Given the description of an element on the screen output the (x, y) to click on. 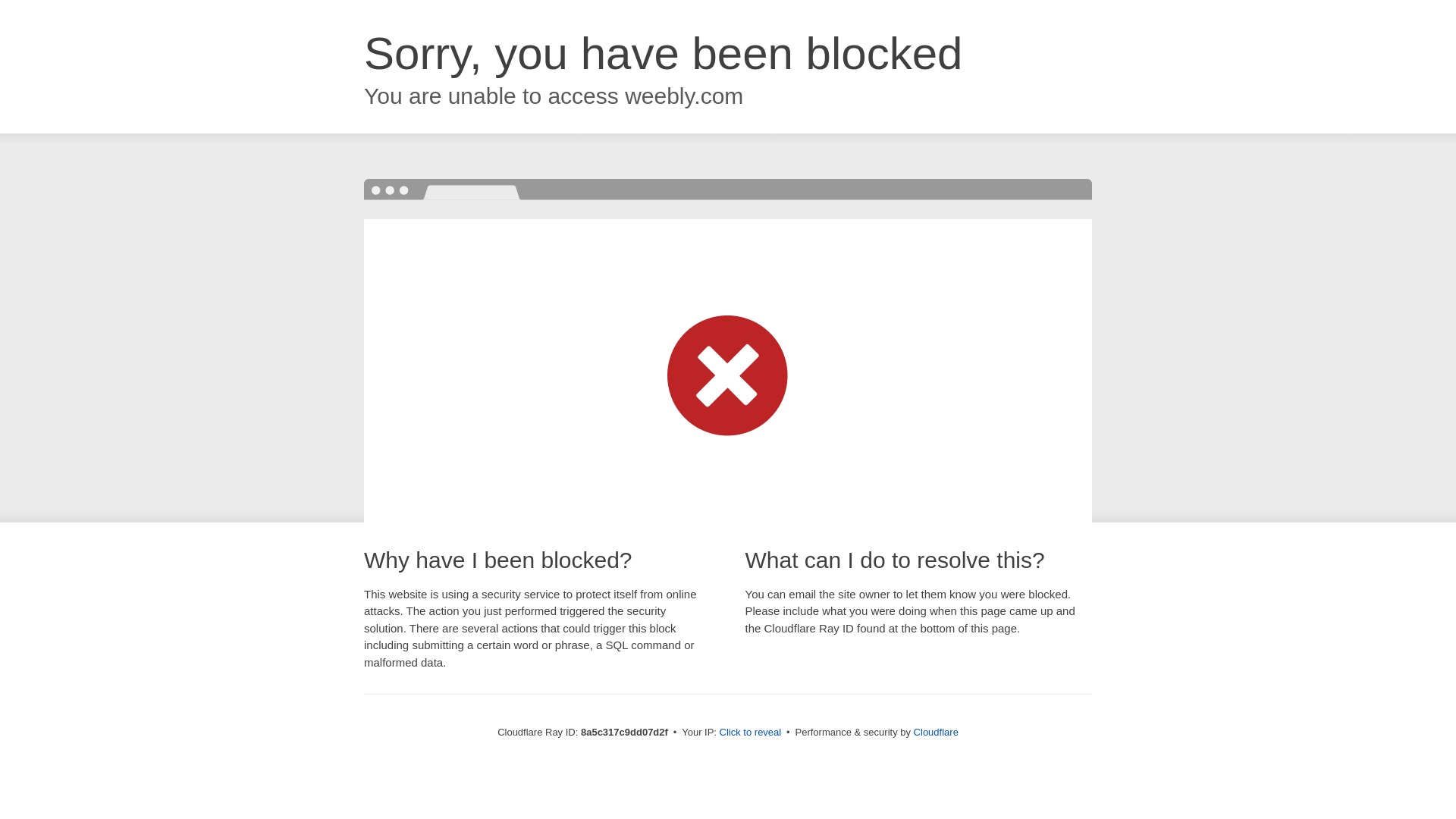
Cloudflare (936, 731)
Click to reveal (750, 732)
